Given the description of an element on the screen output the (x, y) to click on. 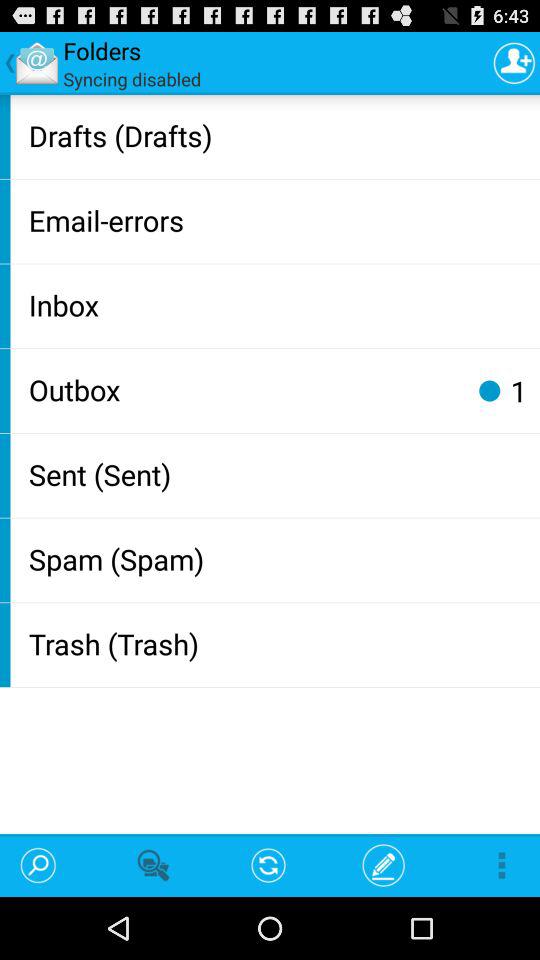
press icon next to the outbox item (489, 390)
